Given the description of an element on the screen output the (x, y) to click on. 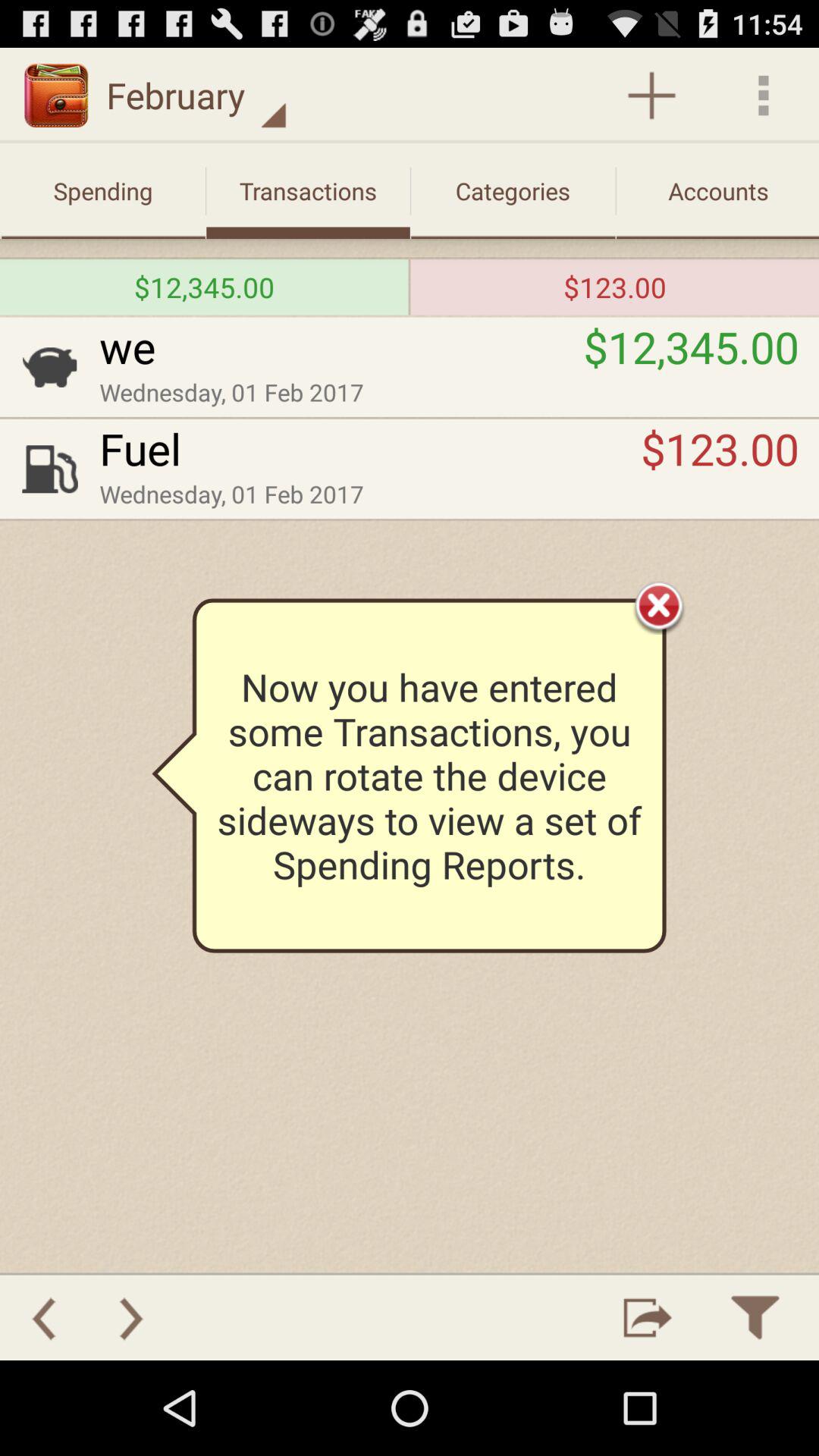
choose the february icon (196, 95)
